Given the description of an element on the screen output the (x, y) to click on. 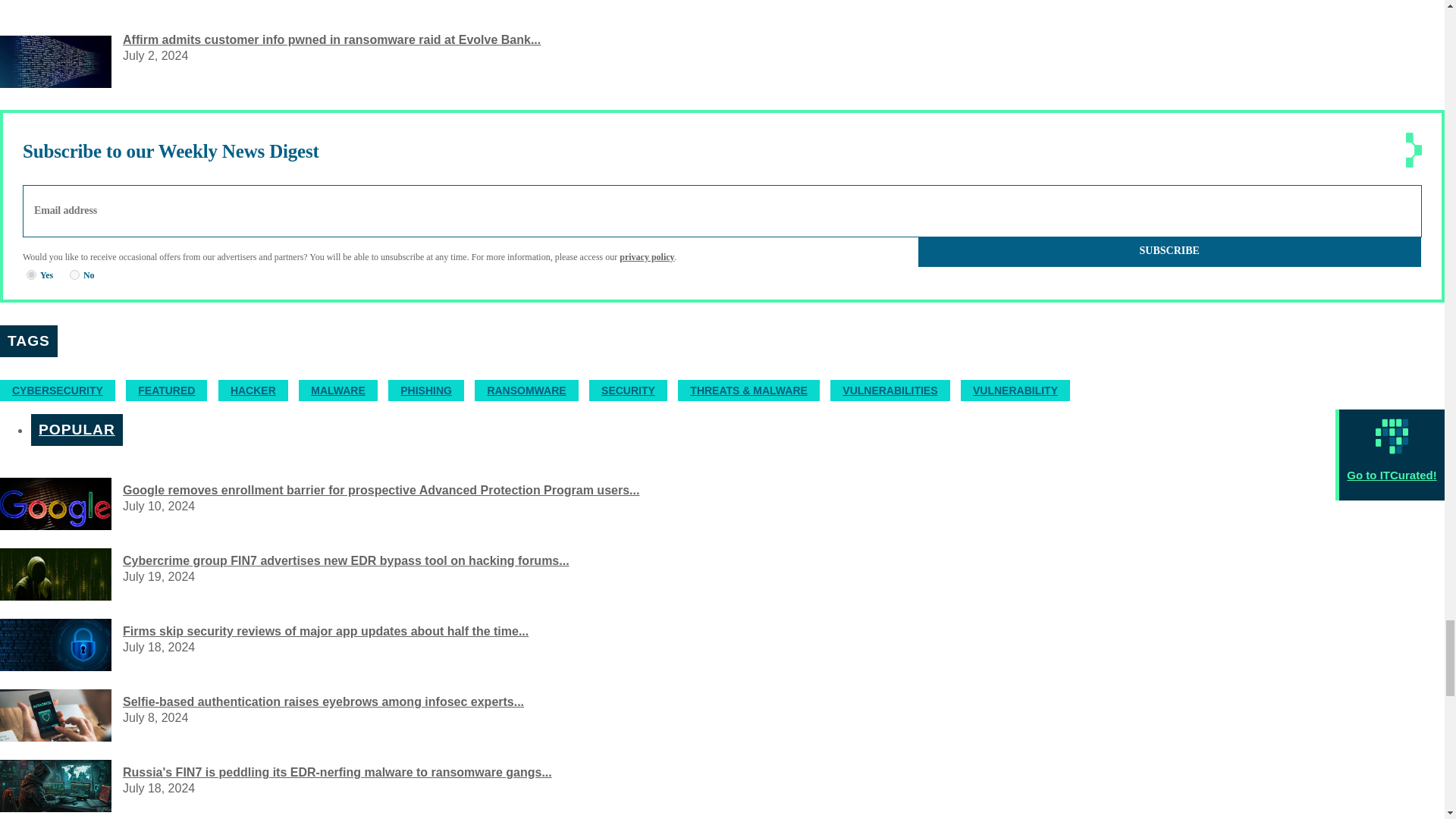
TRUE (31, 275)
FALSE (74, 275)
SUBSCRIBE (1169, 251)
